Given the description of an element on the screen output the (x, y) to click on. 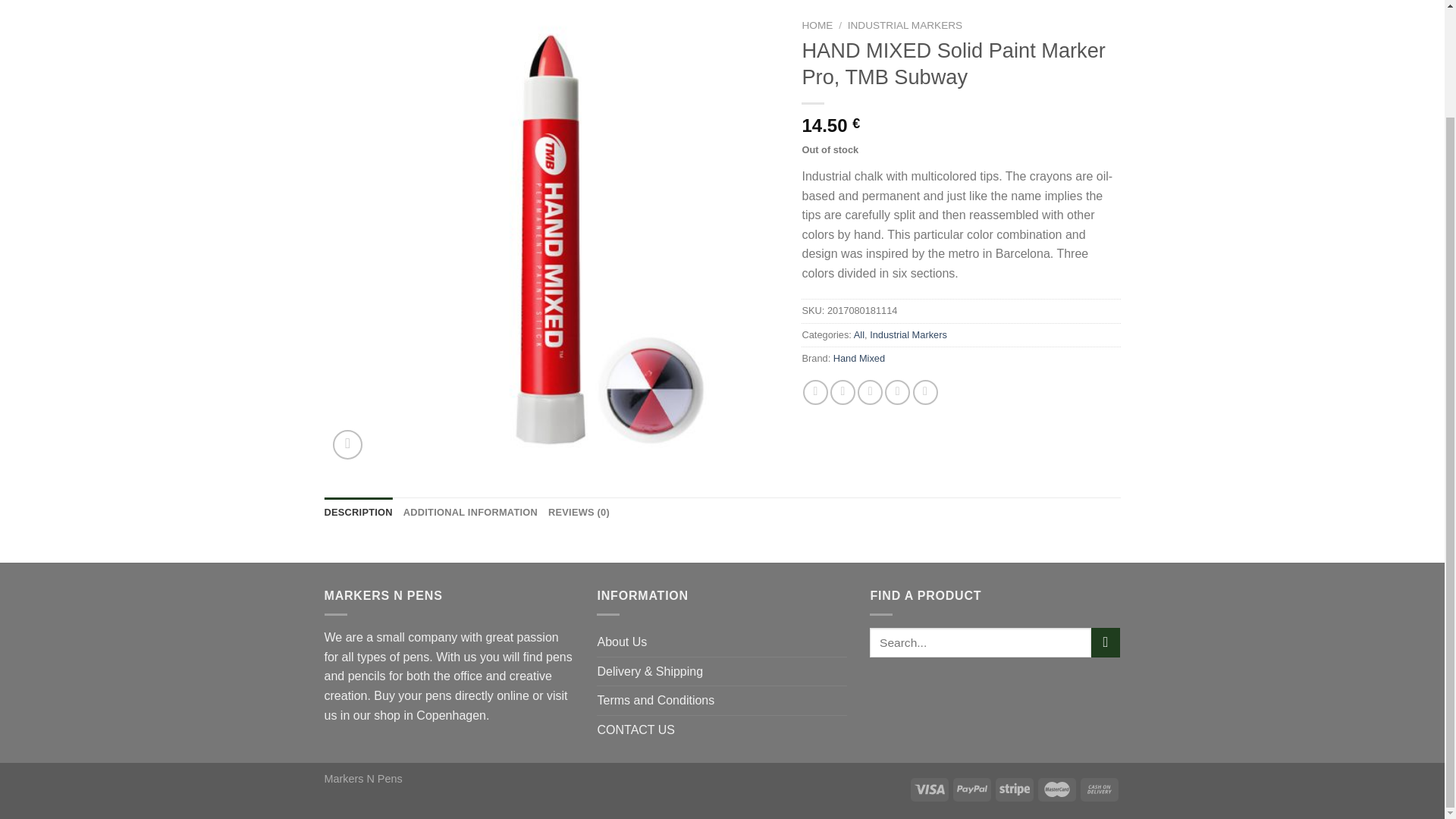
Share on Twitter (842, 392)
Pin on Pinterest (897, 392)
Share on Facebook (815, 392)
Email to a Friend (869, 392)
Zoom (347, 444)
Share on LinkedIn (924, 392)
